Given the description of an element on the screen output the (x, y) to click on. 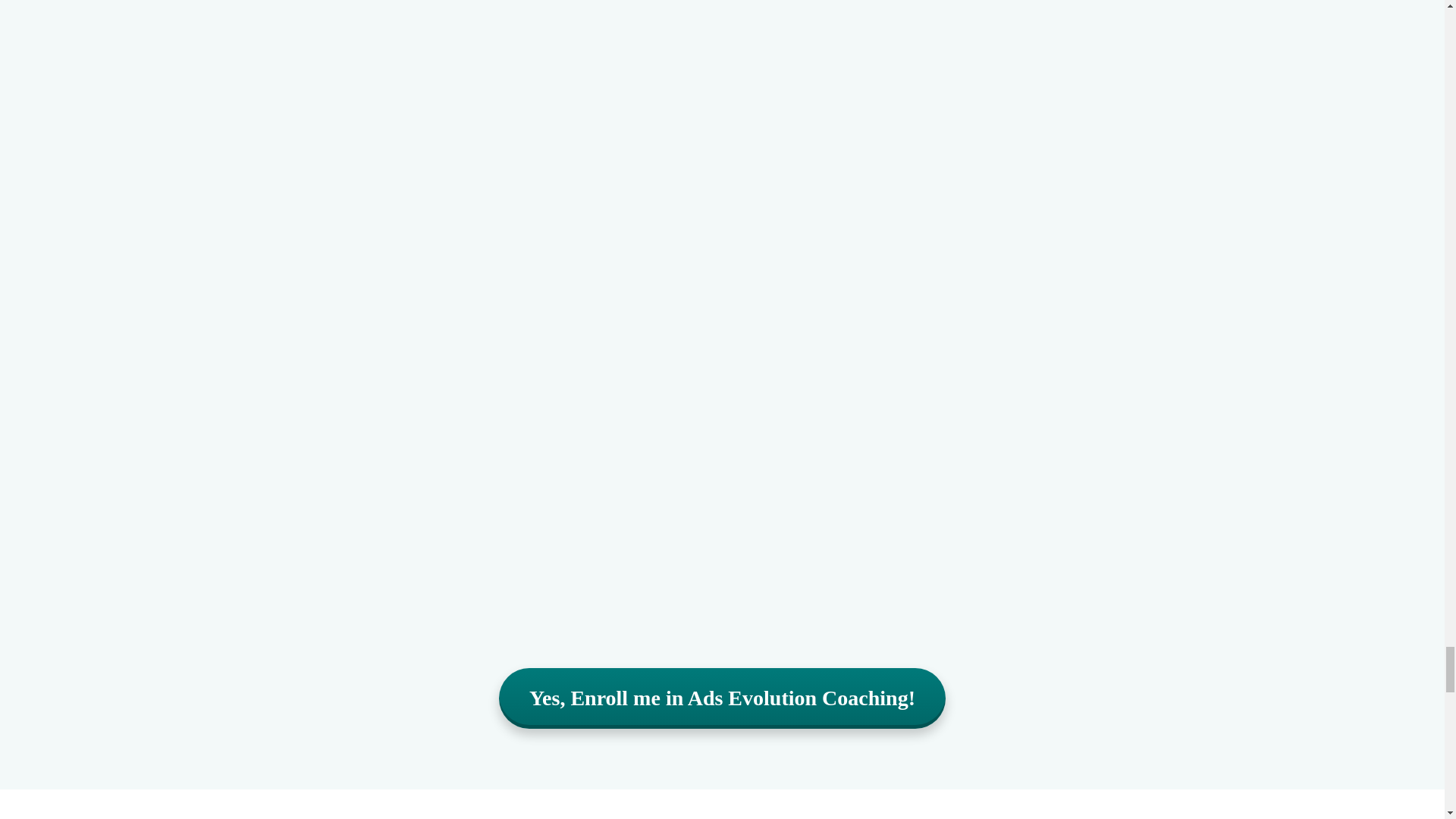
Yes, Enroll me in Ads Evolution Coaching! (721, 698)
